Given the description of an element on the screen output the (x, y) to click on. 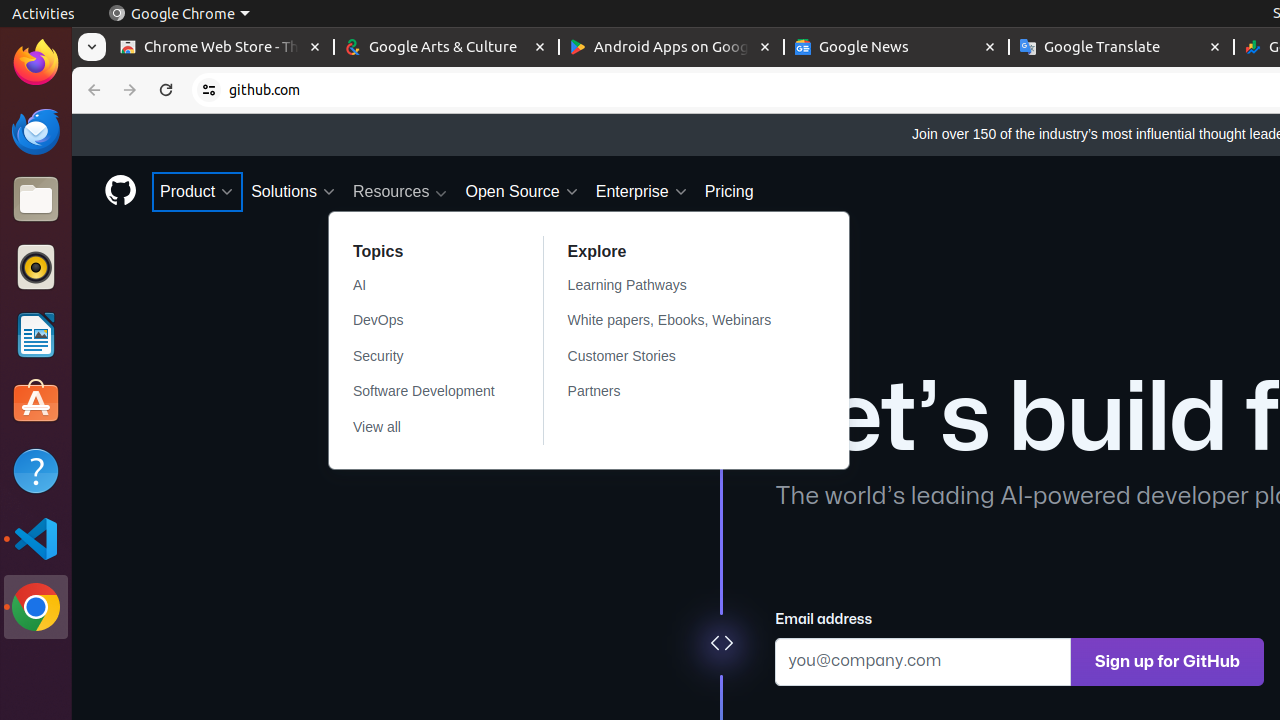
Enterprise Element type: push-button (642, 191)
Reload Element type: push-button (166, 90)
Rhythmbox Element type: push-button (36, 267)
Security Element type: link (423, 356)
Resources Element type: push-button (401, 191)
